Given the description of an element on the screen output the (x, y) to click on. 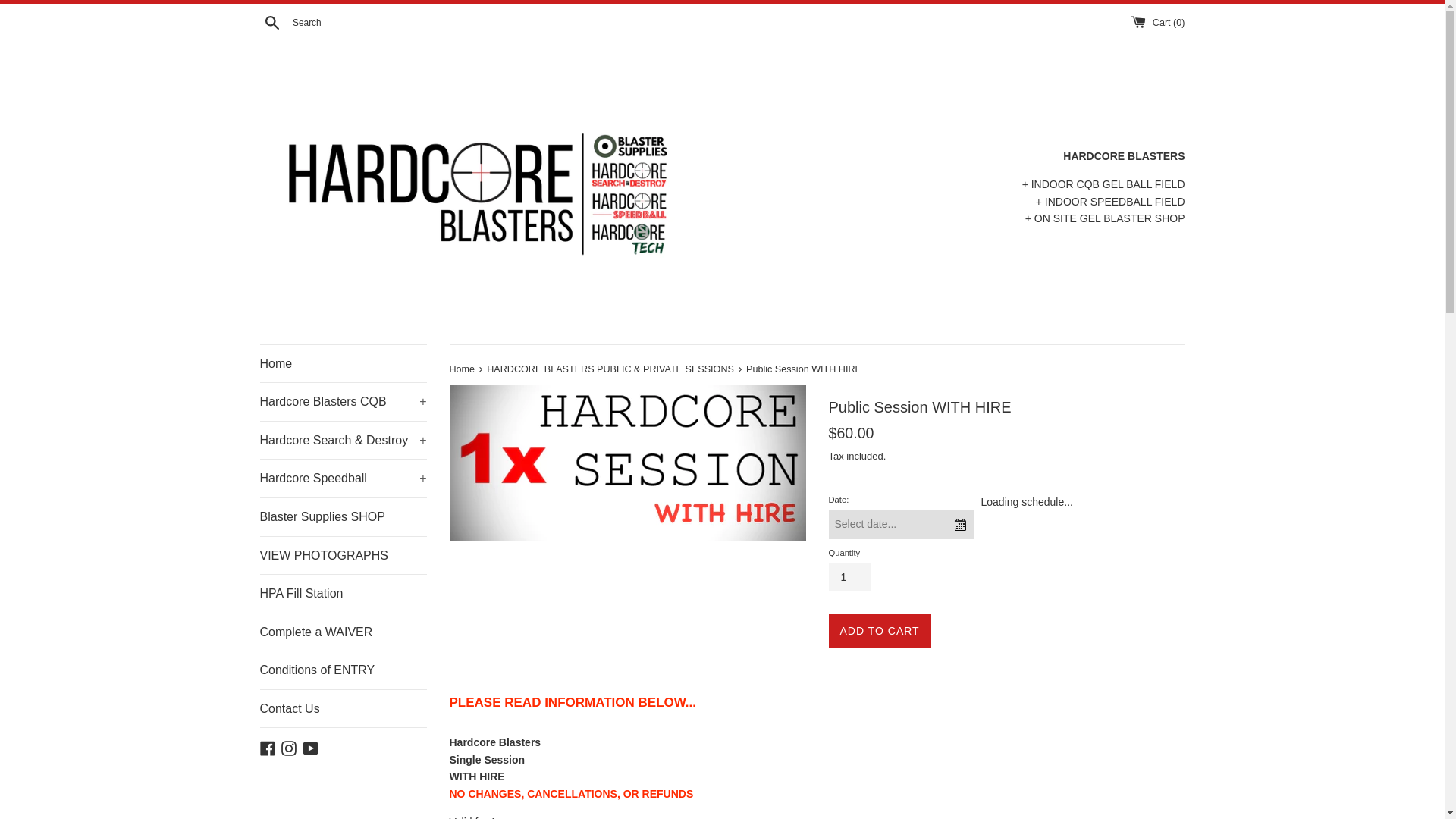
Complete a WAIVER Element type: text (342, 632)
VIEW PHOTOGRAPHS Element type: text (342, 555)
Instagram Element type: text (288, 746)
Conditions of ENTRY Element type: text (342, 670)
HPA Fill Station Element type: text (342, 593)
Home Element type: text (462, 369)
ADD TO CART Element type: text (879, 631)
Cart (0) Element type: text (1157, 21)
Hardcore Speedball
+ Element type: text (342, 478)
Contact Us Element type: text (342, 709)
Hardcore Search & Destroy
+ Element type: text (342, 440)
Hardcore Blasters CQB
+ Element type: text (342, 401)
Search Element type: text (271, 21)
Blaster Supplies SHOP Element type: text (342, 517)
Facebook Element type: text (266, 746)
Home Element type: text (342, 363)
HARDCORE BLASTERS PUBLIC & PRIVATE SESSIONS Element type: text (611, 369)
YouTube Element type: text (310, 746)
